Given the description of an element on the screen output the (x, y) to click on. 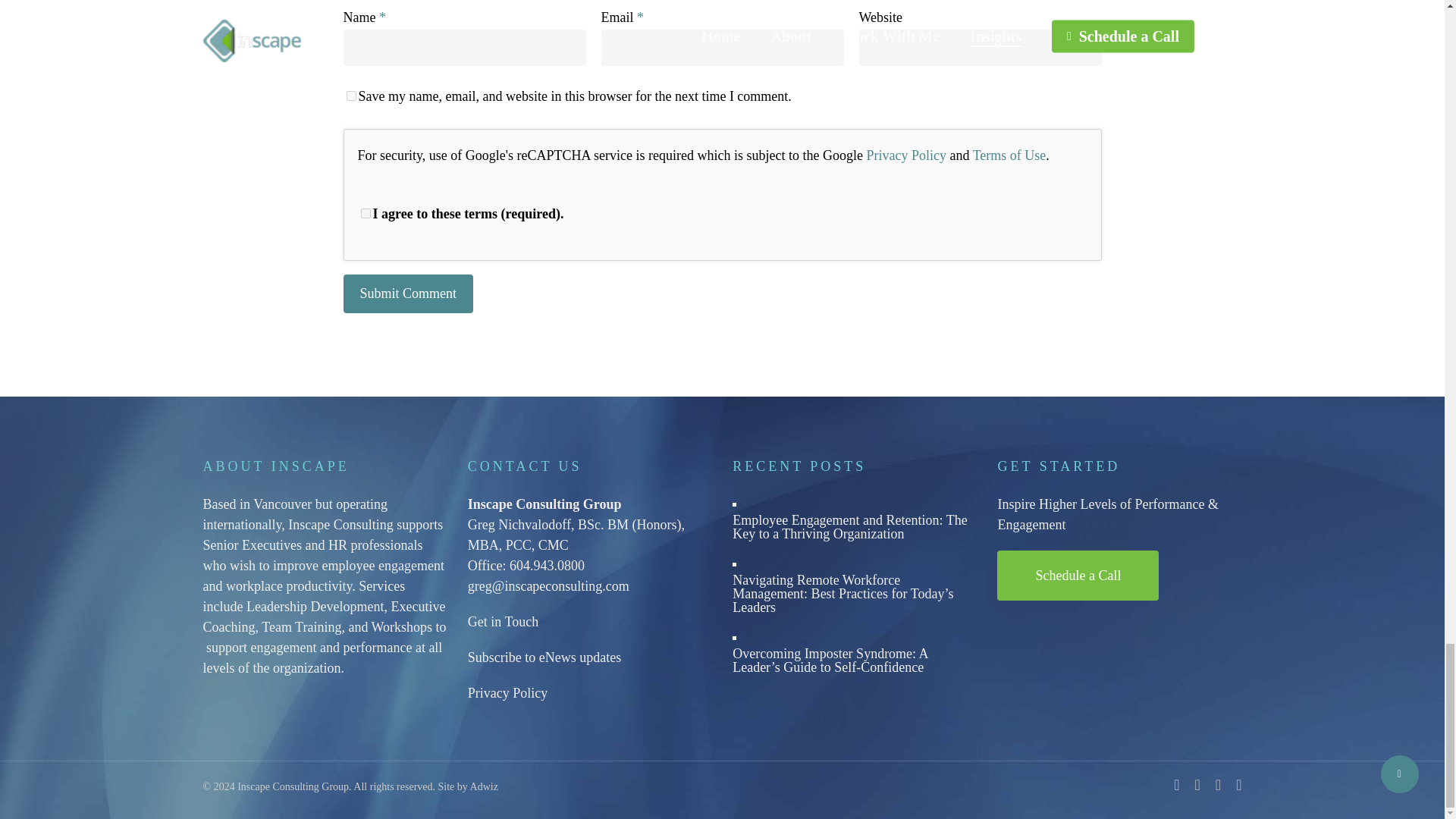
yes (350, 95)
Submit Comment (407, 293)
on (366, 213)
